Given the description of an element on the screen output the (x, y) to click on. 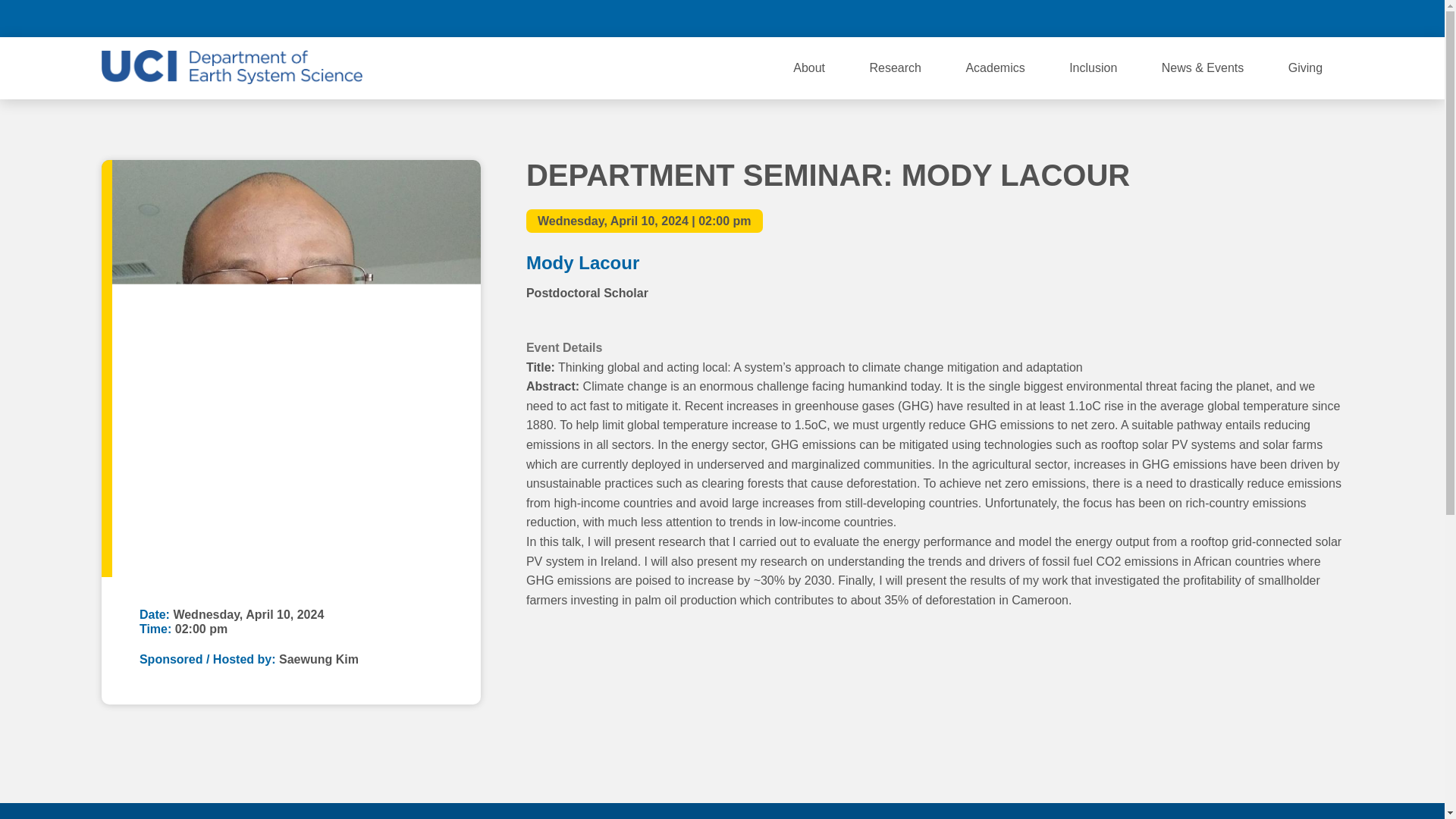
instagram (1179, 18)
search (1330, 18)
Inclusion (1092, 67)
Research (895, 67)
facebook (1141, 18)
youtube (1254, 18)
Academics (994, 67)
linkedin (1292, 18)
Giving (1305, 67)
twitter (1216, 18)
